Given the description of an element on the screen output the (x, y) to click on. 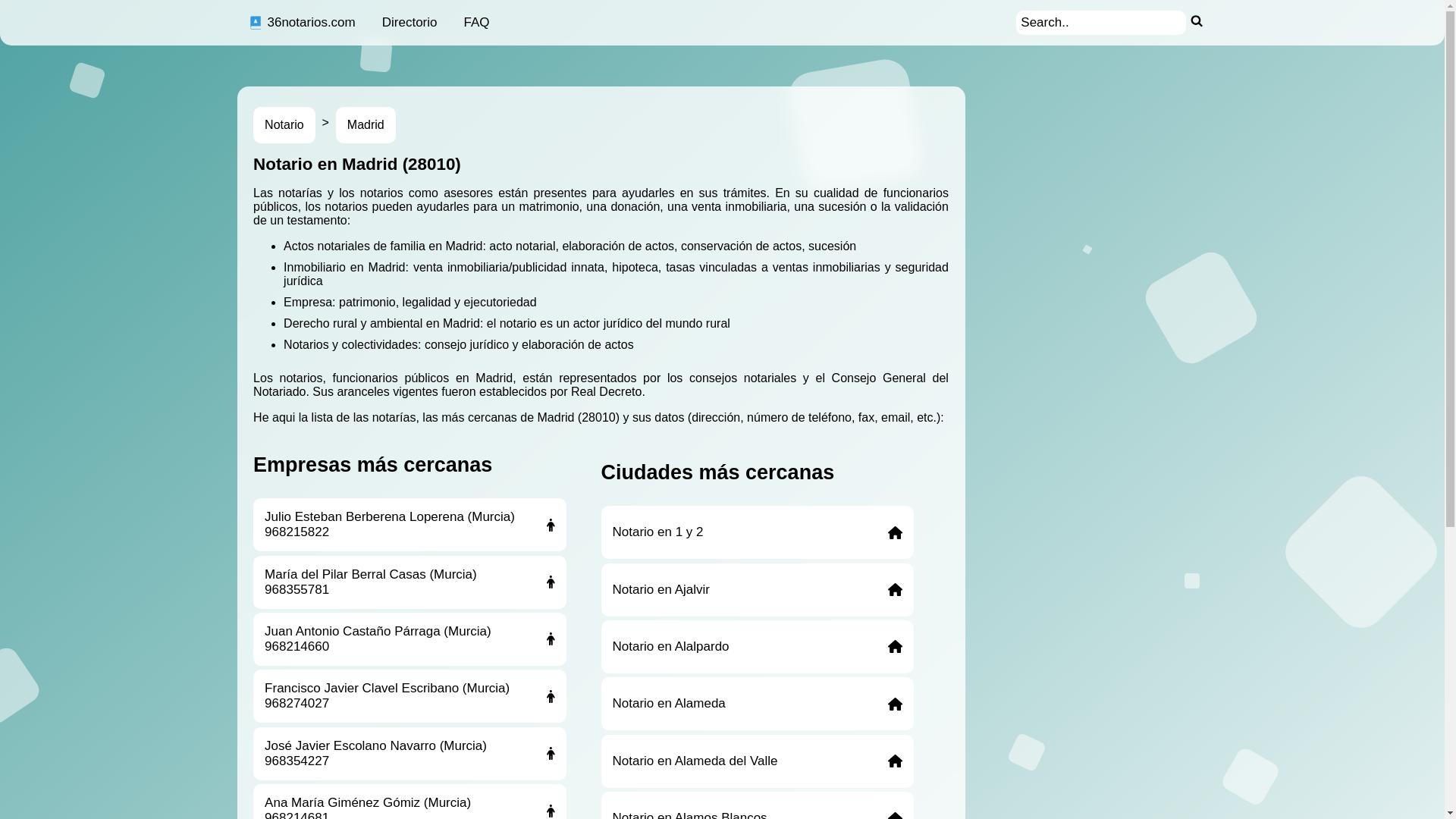
Notario Element type: text (284, 124)
Julio Esteban Berberena Loperena (Murcia)
968215822 Element type: text (409, 524)
Notario en Alameda del Valle Element type: text (756, 760)
Notario en Alameda Element type: text (756, 703)
Notario en Ajalvir Element type: text (756, 589)
Notario en 1 y 2 Element type: text (756, 531)
FAQ Element type: text (475, 22)
Francisco Javier Clavel Escribano (Murcia)
968274027 Element type: text (409, 695)
36notarios.com Element type: text (301, 22)
Madrid Element type: text (365, 124)
Notario en Alalpardo Element type: text (756, 646)
Directorio Element type: text (409, 22)
